Given the description of an element on the screen output the (x, y) to click on. 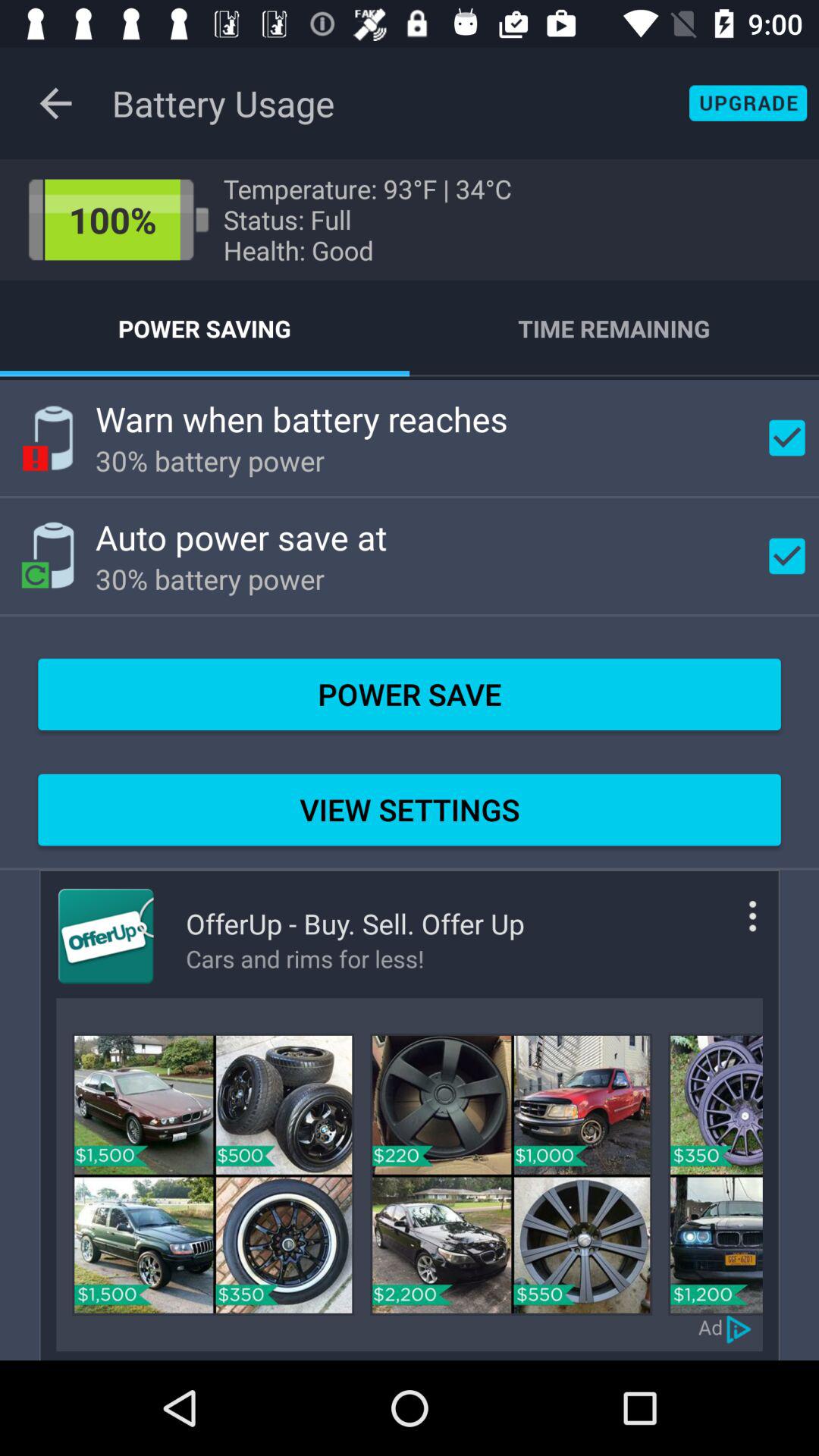
press the icon above the warn when battery item (614, 328)
